Given the description of an element on the screen output the (x, y) to click on. 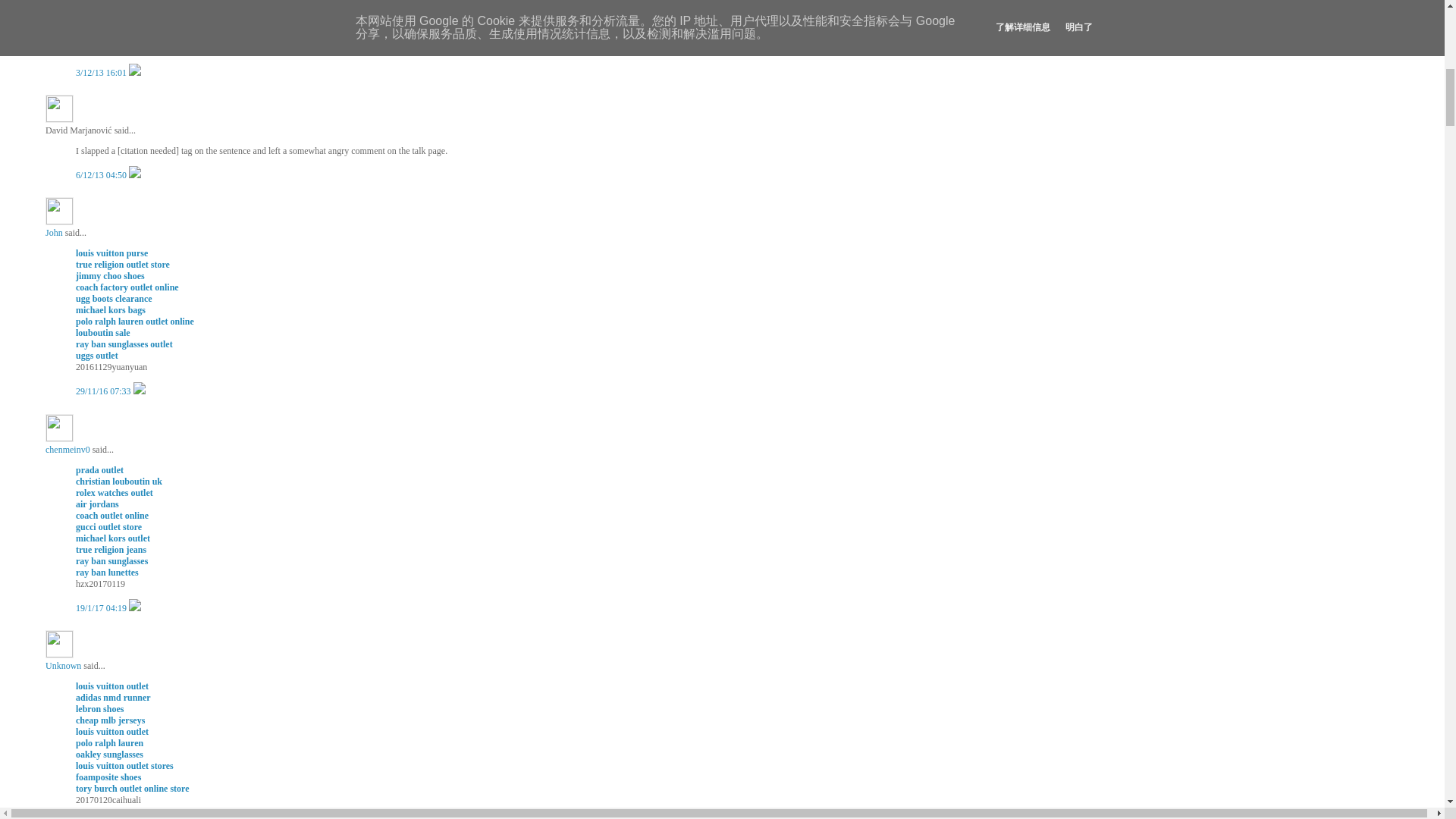
Delete Comment (135, 72)
comment permalink (102, 72)
comment permalink (102, 174)
John (59, 211)
Robert Pirsig (99, 36)
Delete Comment (135, 607)
Delete Comment (135, 174)
louis vuitton purse (111, 253)
polo ralph lauren outlet online (134, 321)
jimmy choo shoes (109, 276)
uggs outlet (96, 355)
comment permalink (104, 390)
true religion outlet store (122, 264)
coach factory outlet online (127, 286)
Delete Comment (139, 390)
